Given the description of an element on the screen output the (x, y) to click on. 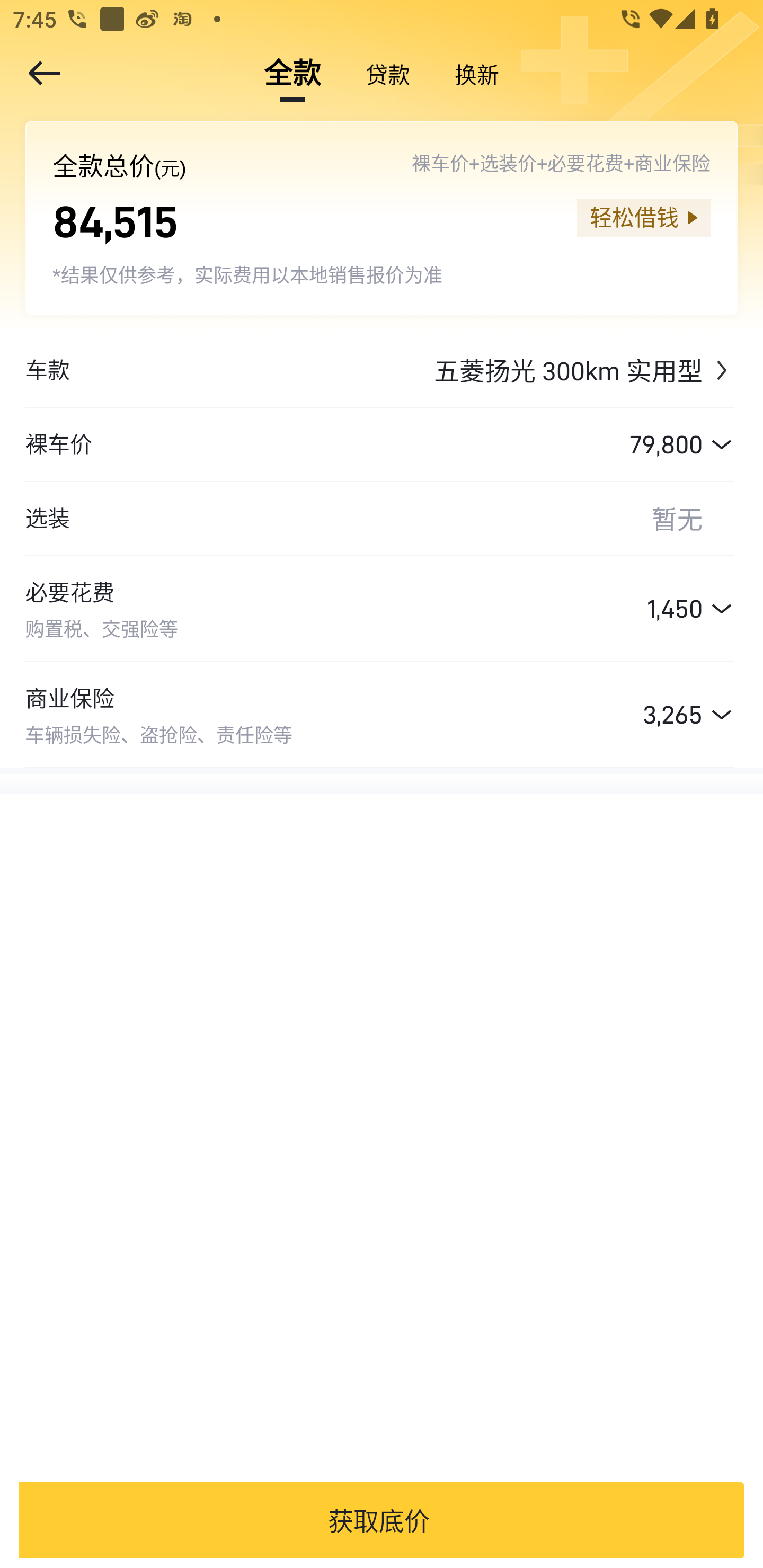
全款 (292, 72)
贷款 (387, 72)
换新 (476, 72)
轻松借钱 (643, 217)
五菱扬光 300km 实用型 (402, 369)
获取底价 (378, 1519)
